Given the description of an element on the screen output the (x, y) to click on. 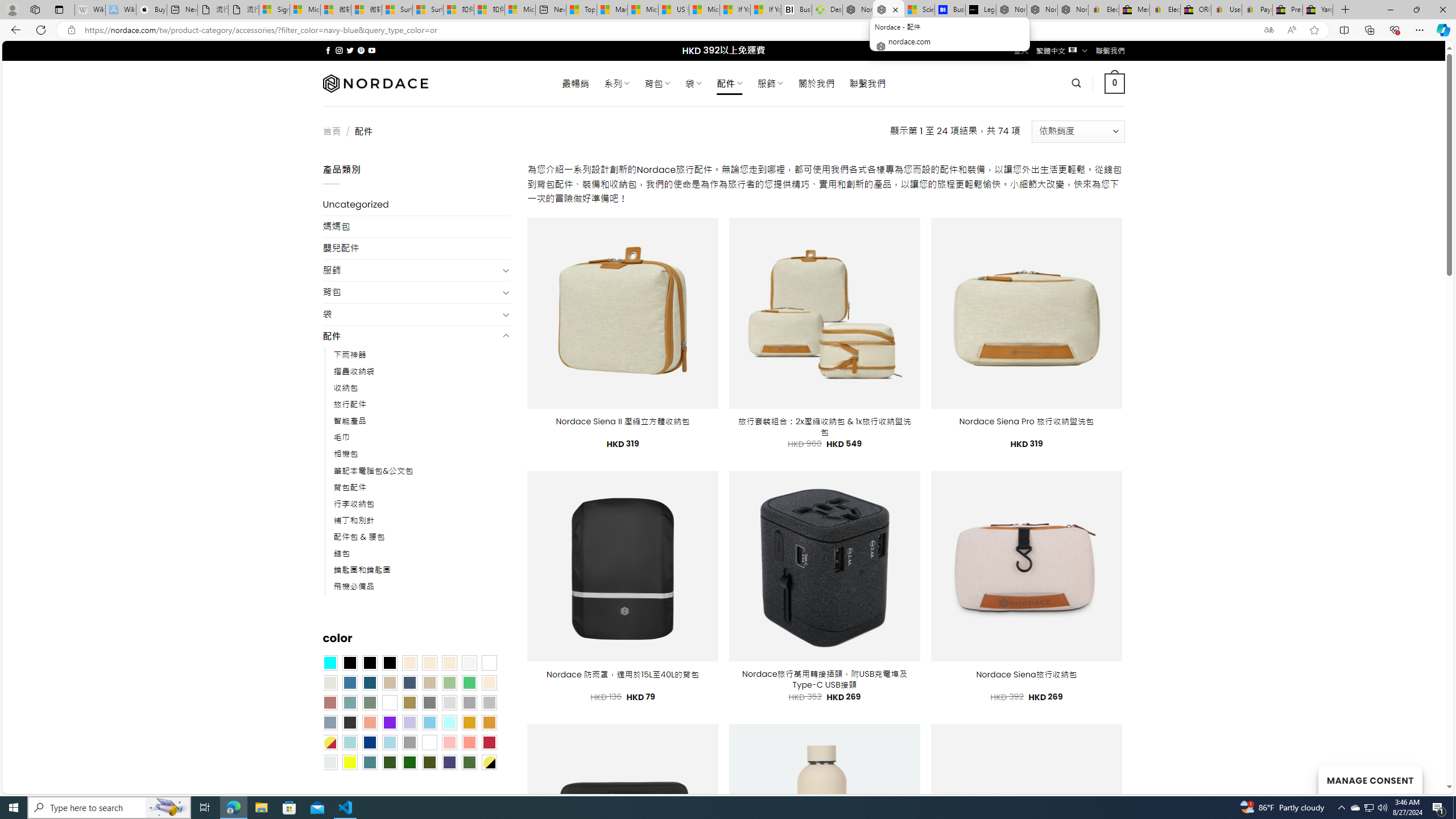
Descarga Driver Updater (826, 9)
